Given the description of an element on the screen output the (x, y) to click on. 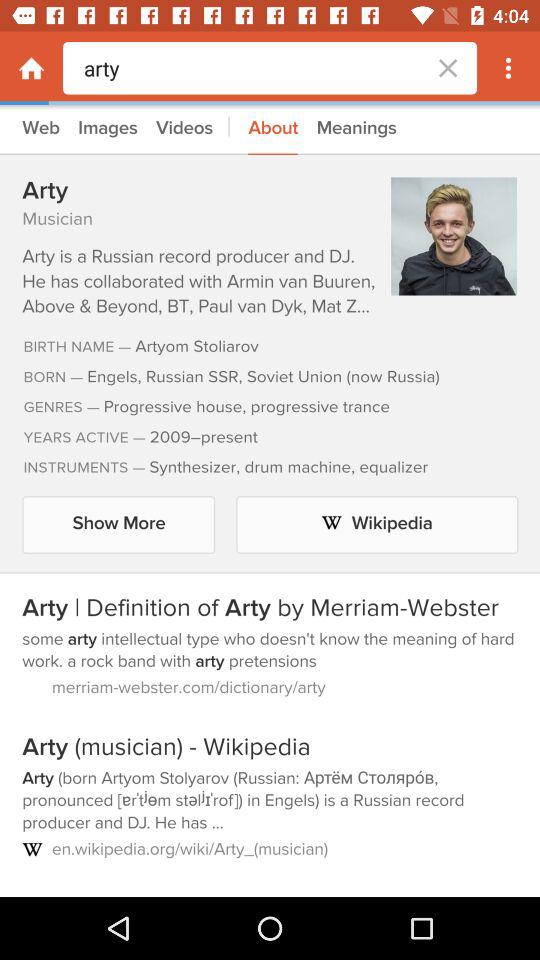
files (270, 501)
